Given the description of an element on the screen output the (x, y) to click on. 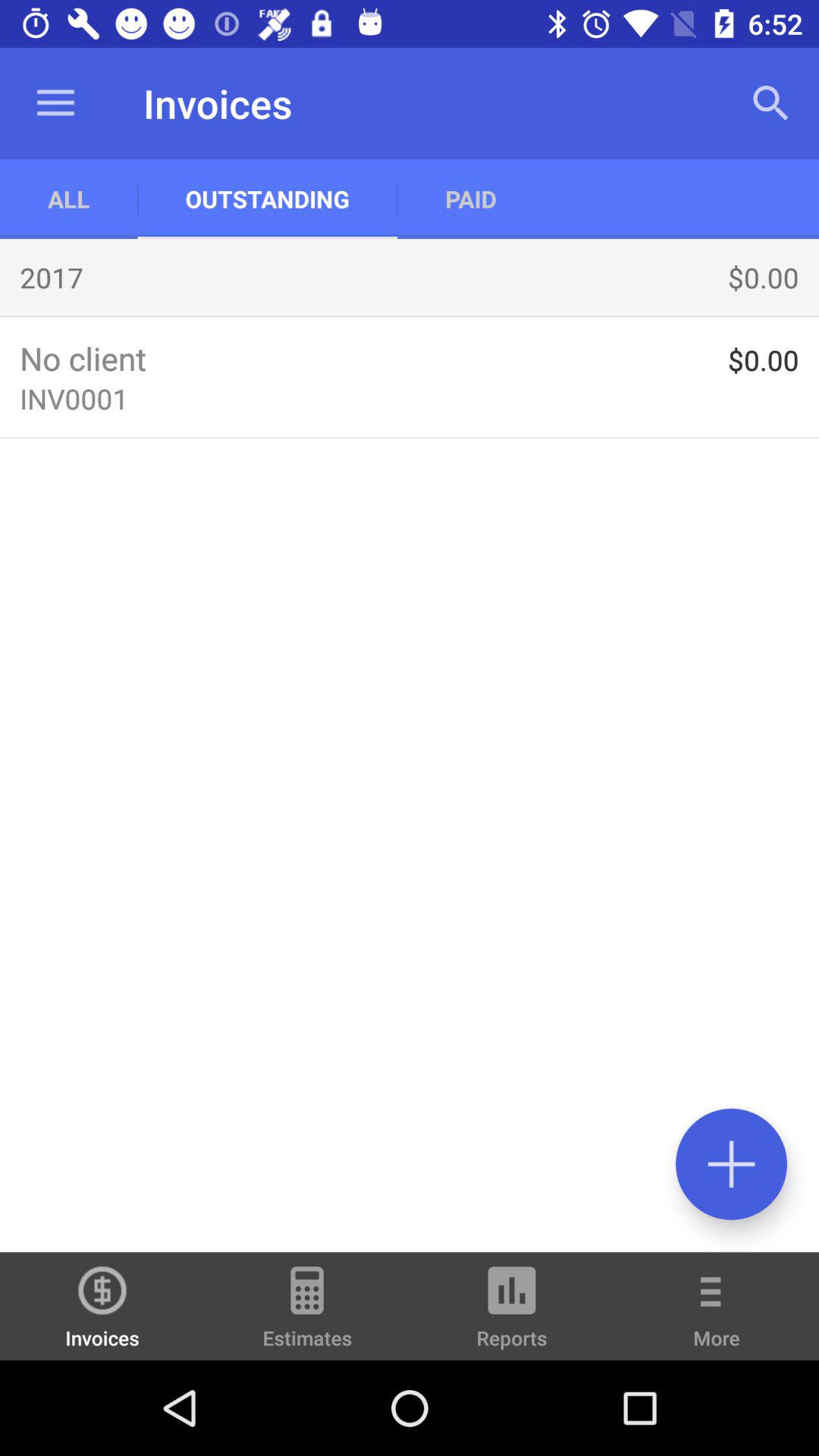
turn on the item next to the outstanding app (68, 198)
